Given the description of an element on the screen output the (x, y) to click on. 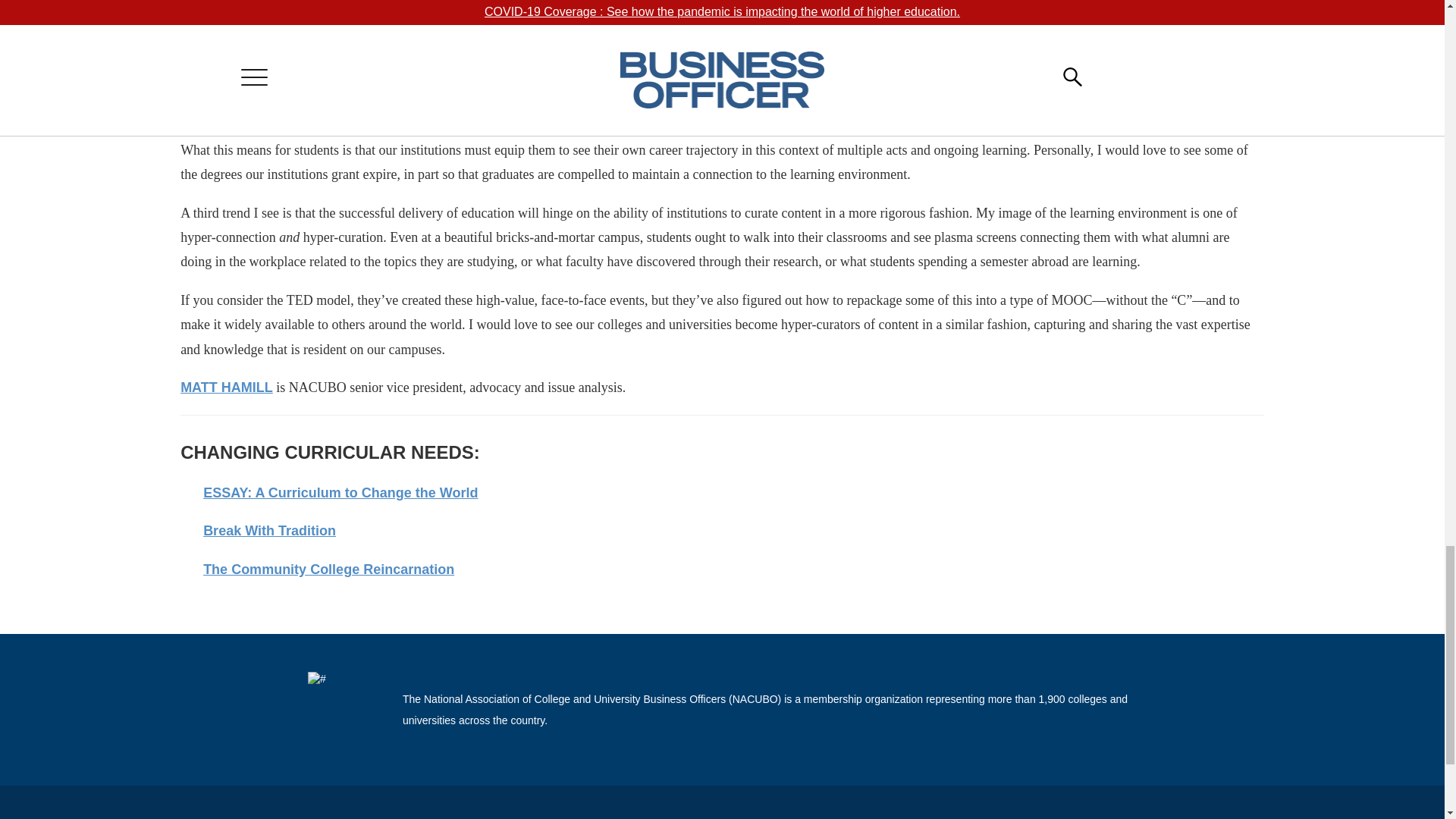
Break With Tradition (269, 530)
The Community College Reincarnation (328, 569)
MATT HAMILL (226, 387)
ESSAY: A Curriculum to Change the World (340, 492)
